Given the description of an element on the screen output the (x, y) to click on. 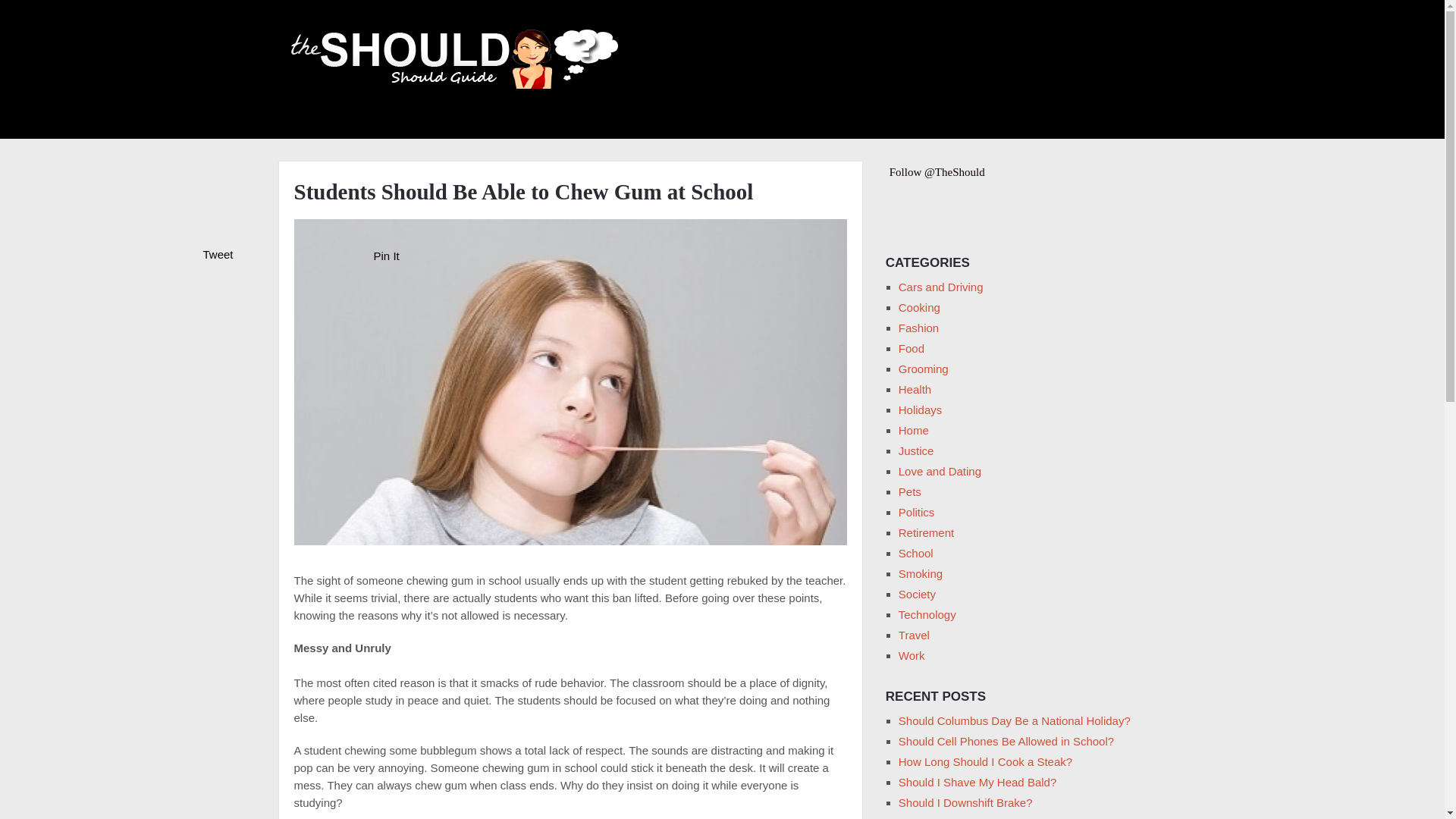
How Long Should I Cook a Steak? (984, 761)
Fashion (918, 327)
Home (913, 430)
Tweet (217, 254)
School (915, 553)
Holidays (920, 409)
Politics (916, 512)
Love and Dating (939, 471)
Health (914, 389)
Should Cell Phones Be Allowed in School? (1005, 740)
